Given the description of an element on the screen output the (x, y) to click on. 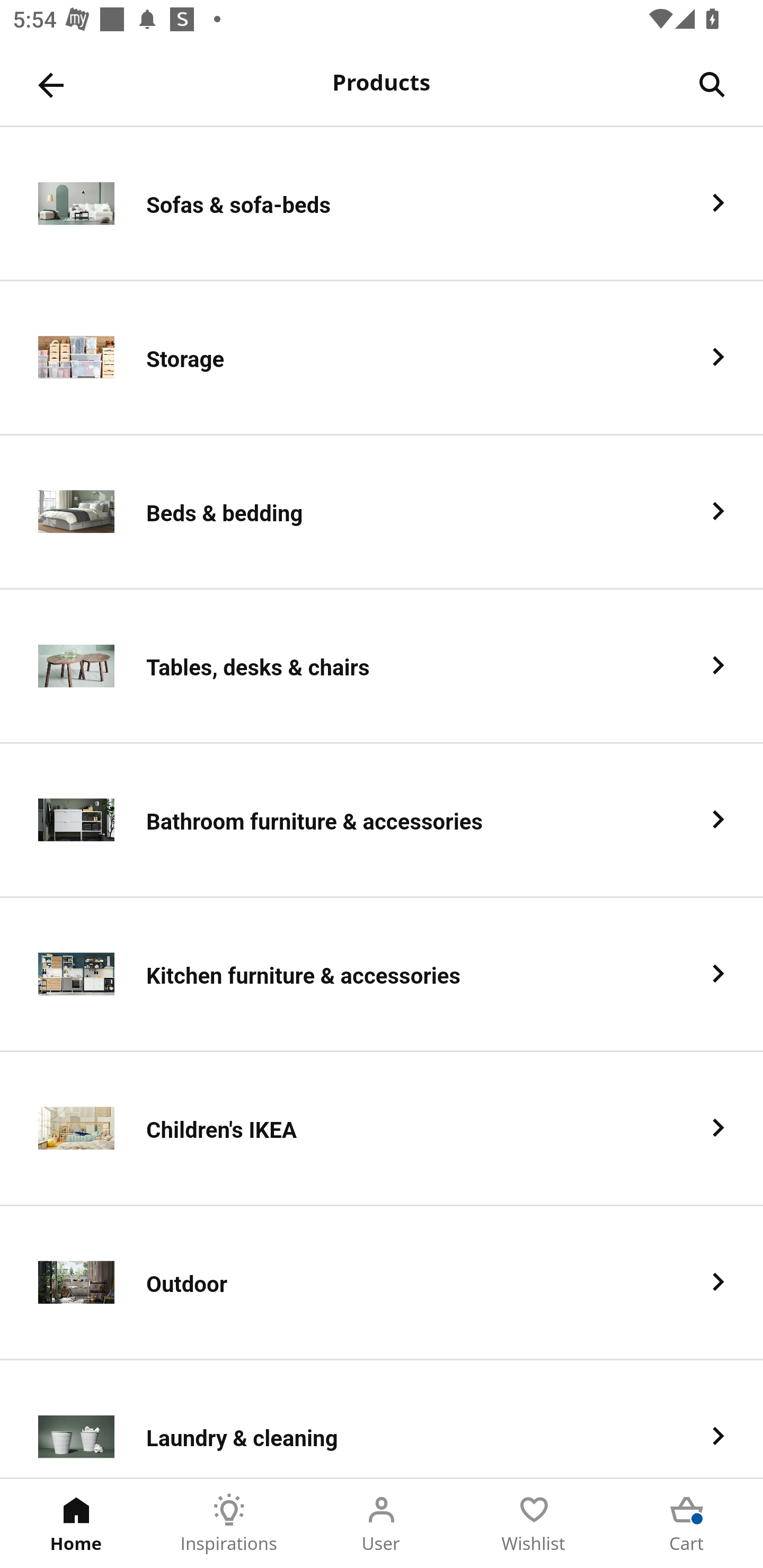
Sofas & sofa-beds (381, 203)
Storage (381, 357)
Beds & bedding (381, 512)
Tables, desks & chairs (381, 666)
Bathroom furniture & accessories (381, 820)
Kitchen furniture & accessories (381, 975)
Children's IKEA (381, 1128)
Outdoor (381, 1283)
Laundry & cleaning (381, 1419)
Home
Tab 1 of 5 (76, 1522)
Inspirations
Tab 2 of 5 (228, 1522)
User
Tab 3 of 5 (381, 1522)
Wishlist
Tab 4 of 5 (533, 1522)
Cart
Tab 5 of 5 (686, 1522)
